Given the description of an element on the screen output the (x, y) to click on. 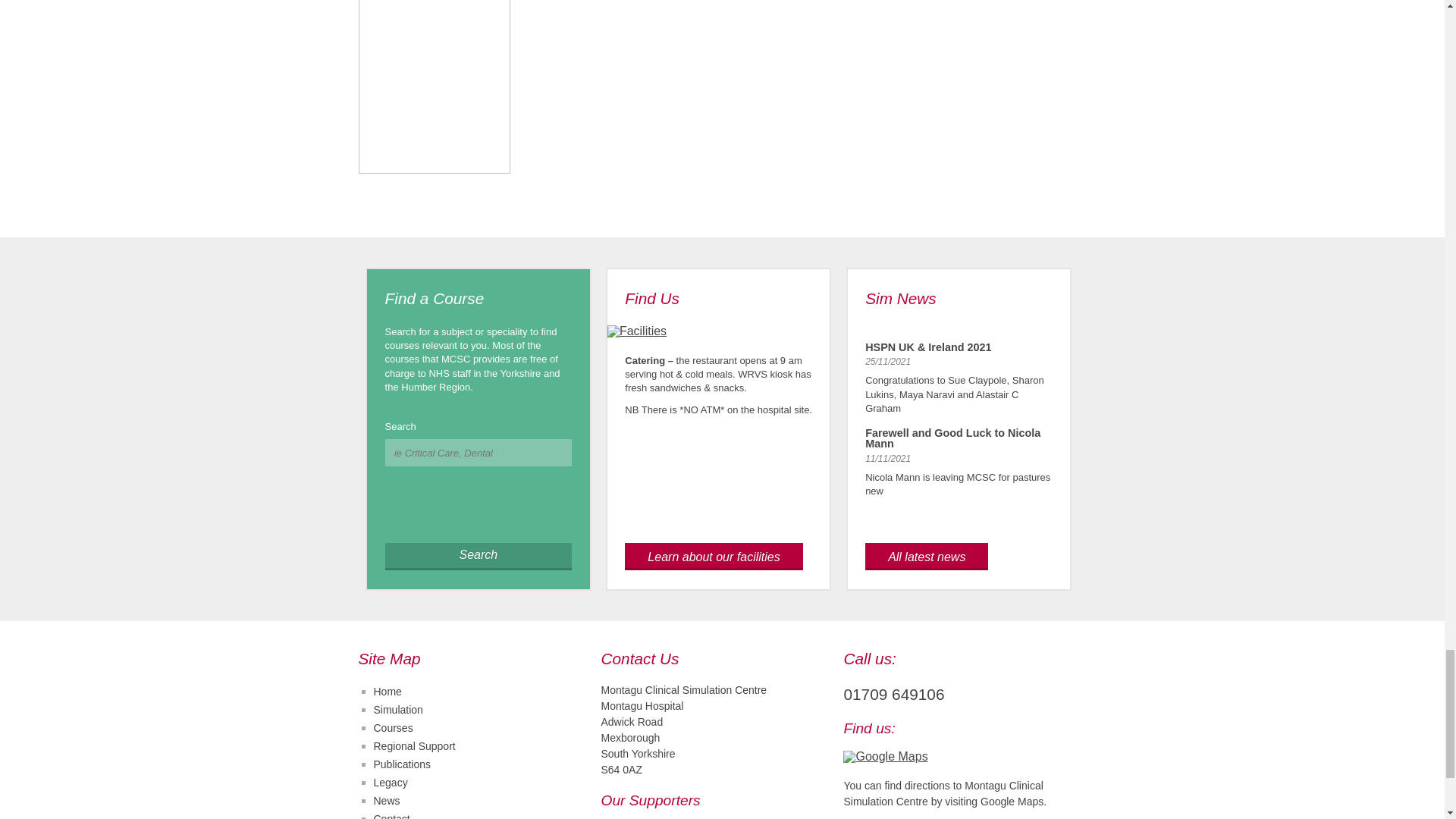
Find Us (651, 298)
Home (386, 691)
Search (478, 556)
Farewell and Good Luck to Nicola Mann (952, 437)
Sim News (900, 298)
Find a Course (434, 298)
All latest news (926, 556)
Search (478, 556)
Learn about our facilities (713, 556)
